Given the description of an element on the screen output the (x, y) to click on. 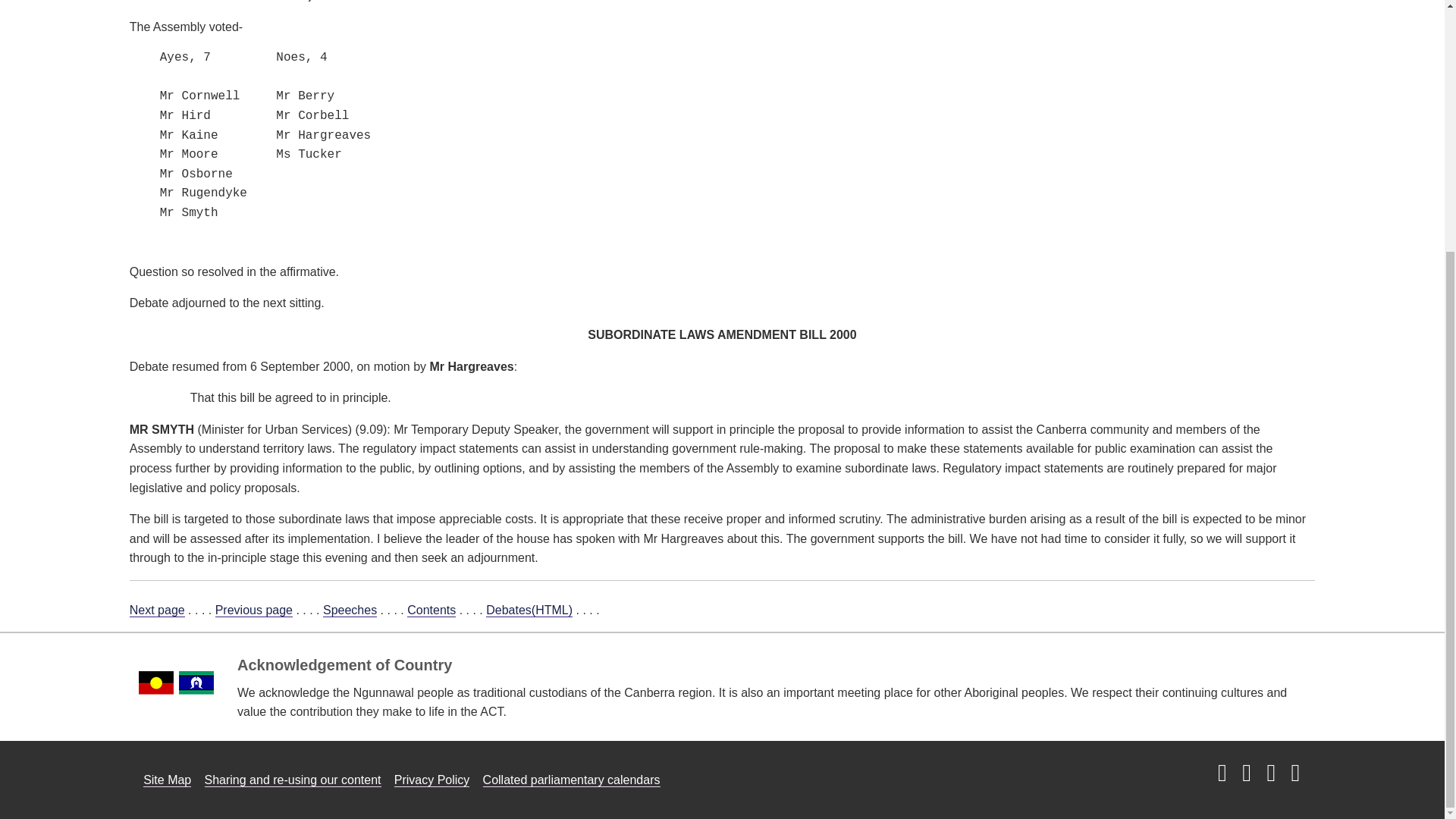
Speeches (350, 610)
Sharing and re-using our content (293, 780)
Link to Sharing and re-using our content (293, 780)
Link to Privacy Policy (432, 780)
Collated parliamentary calendars (572, 780)
Contents (431, 610)
Link to Site Map (166, 780)
Next page (156, 610)
Collated parliamentary calendars (572, 780)
Previous page (253, 610)
